Given the description of an element on the screen output the (x, y) to click on. 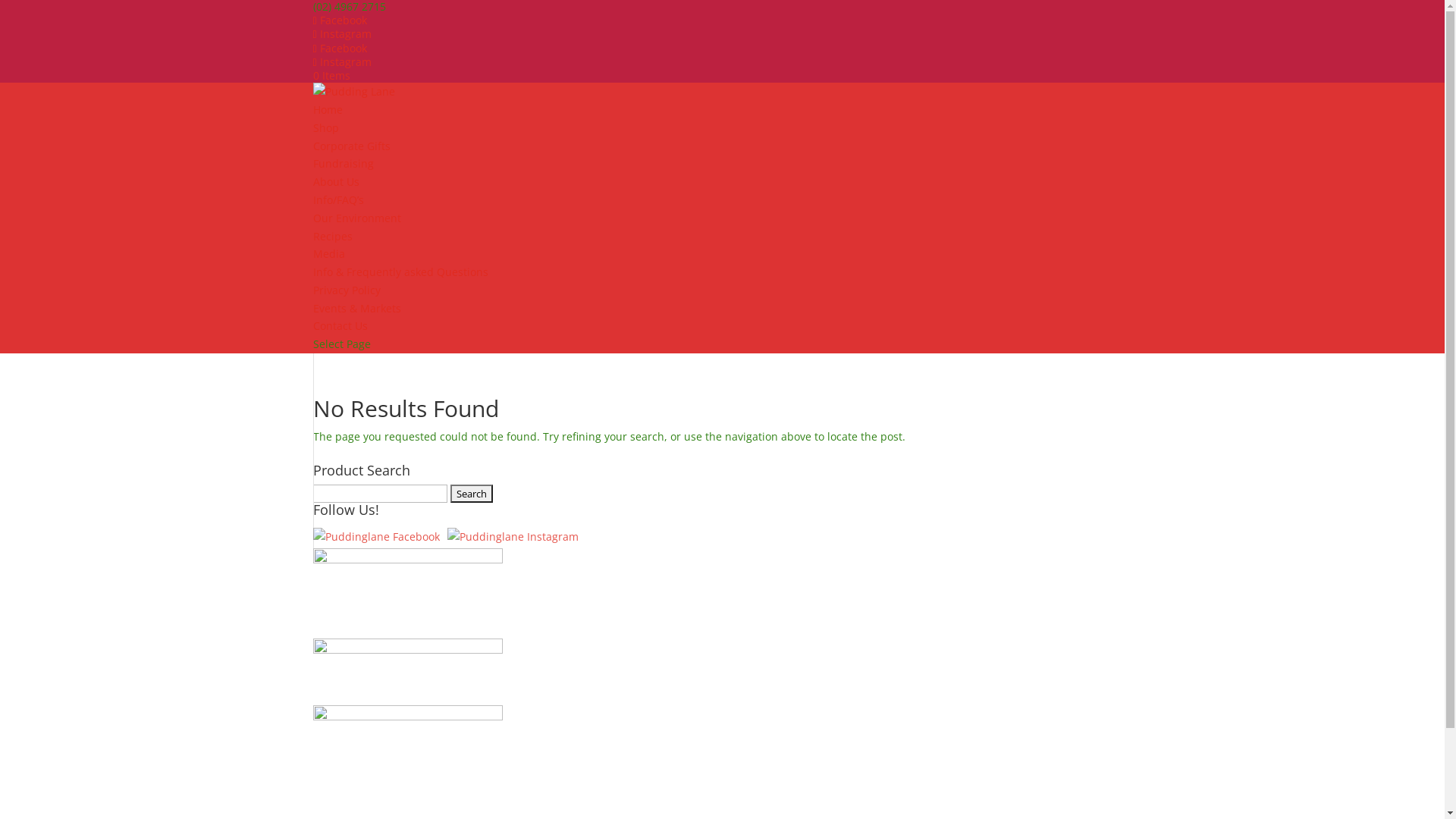
Events & Markets Element type: text (356, 308)
Privacy Policy Element type: text (345, 289)
Puddinglane Instagram Element type: hover (512, 536)
Search Element type: text (471, 493)
Partners Element type: hover (407, 593)
Home Element type: text (327, 109)
Contact Us Element type: text (339, 325)
Corporate Gifts Element type: text (350, 145)
Puddinglane Facebook Element type: hover (375, 536)
Facebook Element type: text (339, 47)
Recipes Element type: text (331, 236)
Our Environment Element type: text (356, 217)
About Us Element type: text (335, 181)
Instagram Element type: text (341, 33)
Media Element type: text (328, 253)
0 Items Element type: text (330, 75)
Fundraising Element type: text (342, 163)
Info & Frequently asked Questions Element type: text (399, 271)
Shop Element type: text (325, 127)
Instagram Element type: text (341, 61)
Facebook Element type: text (339, 19)
